Given the description of an element on the screen output the (x, y) to click on. 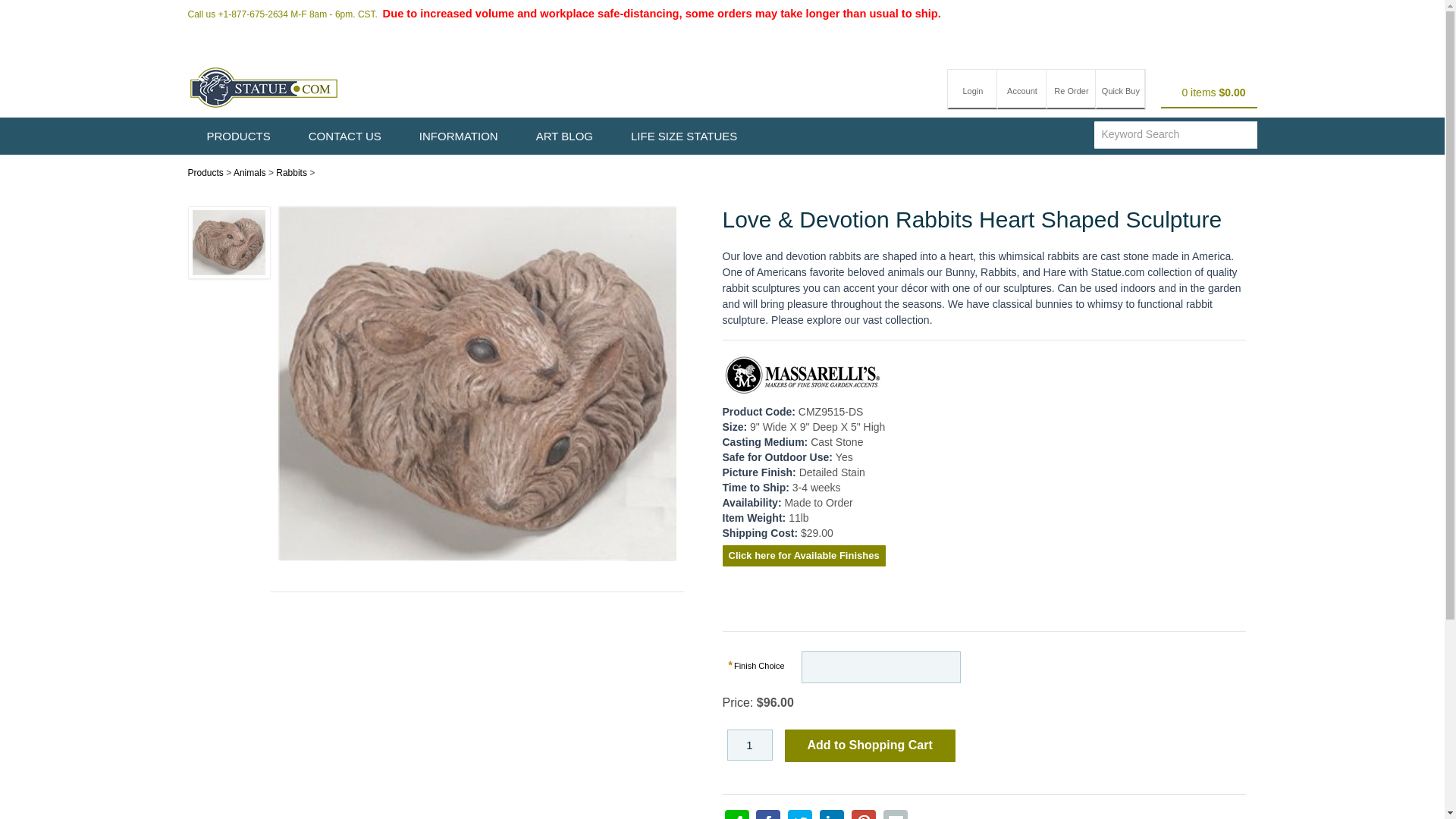
Click here for Available Finishes (803, 556)
Login (972, 88)
Account (1021, 88)
Re Order (1071, 88)
Login (972, 88)
CONTACT US (344, 135)
Finish Choice (758, 665)
Animals (249, 172)
INFORMATION (458, 135)
1 (748, 744)
Products (205, 172)
Add to Shopping Cart (869, 745)
PRODUCTS (238, 135)
Quick Buy (1120, 88)
ART BLOG (563, 135)
